Given the description of an element on the screen output the (x, y) to click on. 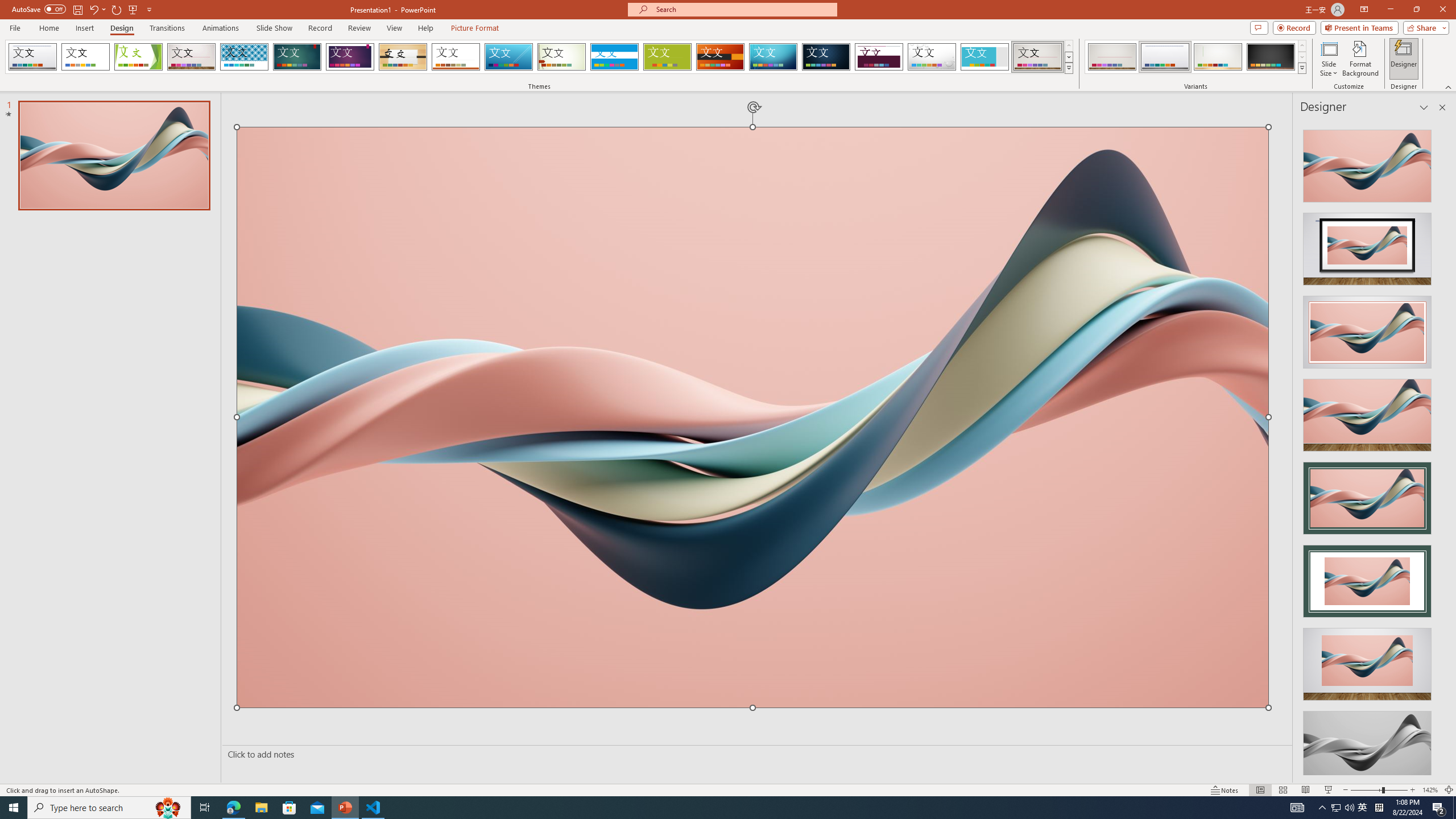
Variants (1301, 67)
Frame (984, 56)
Basis (667, 56)
